Given the description of an element on the screen output the (x, y) to click on. 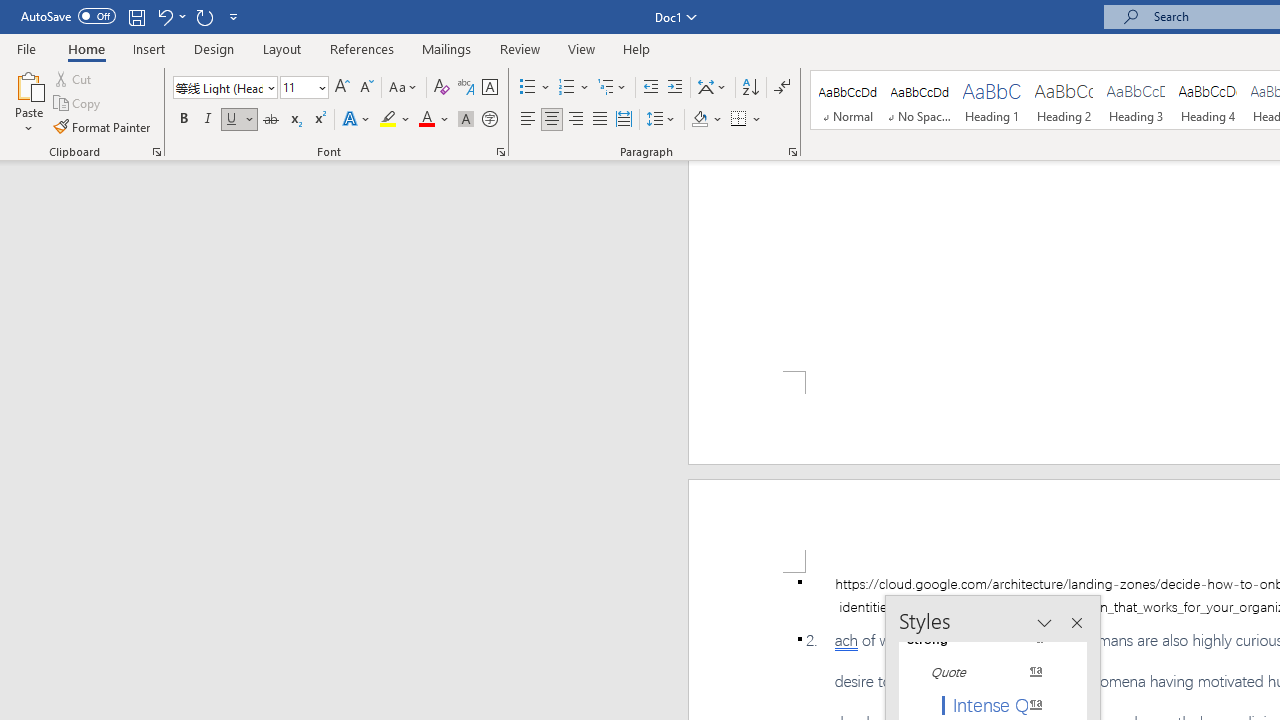
View (582, 48)
Grow Font (342, 87)
Increase Indent (675, 87)
Layout (282, 48)
Clear Formatting (442, 87)
Decrease Indent (650, 87)
Undo Paragraph Alignment (164, 15)
Cut (73, 78)
Paragraph... (792, 151)
Quick Access Toolbar (131, 16)
Align Left (527, 119)
Superscript (319, 119)
Text Highlight Color (395, 119)
